Given the description of an element on the screen output the (x, y) to click on. 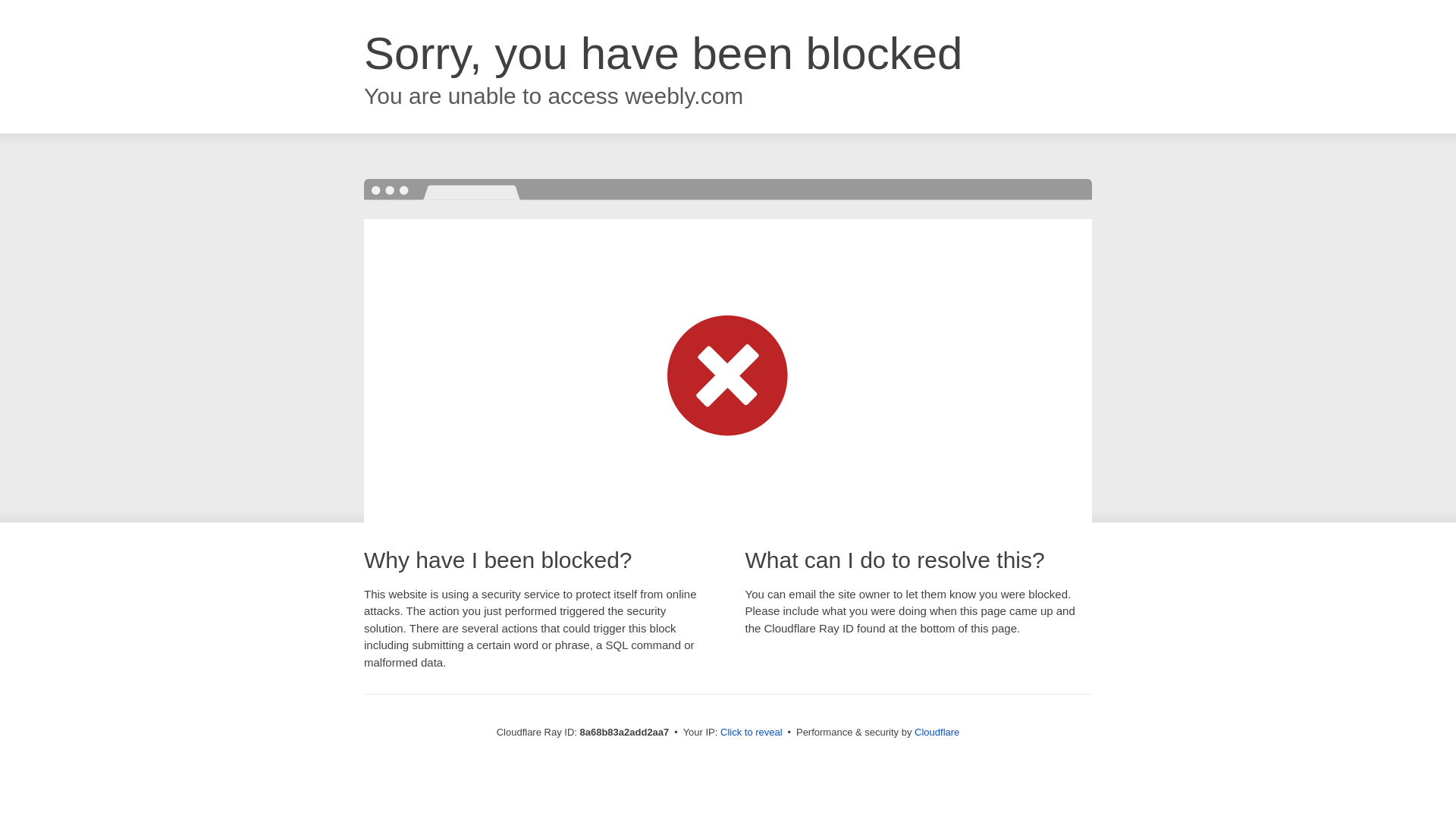
Cloudflare (936, 731)
Click to reveal (751, 732)
